Given the description of an element on the screen output the (x, y) to click on. 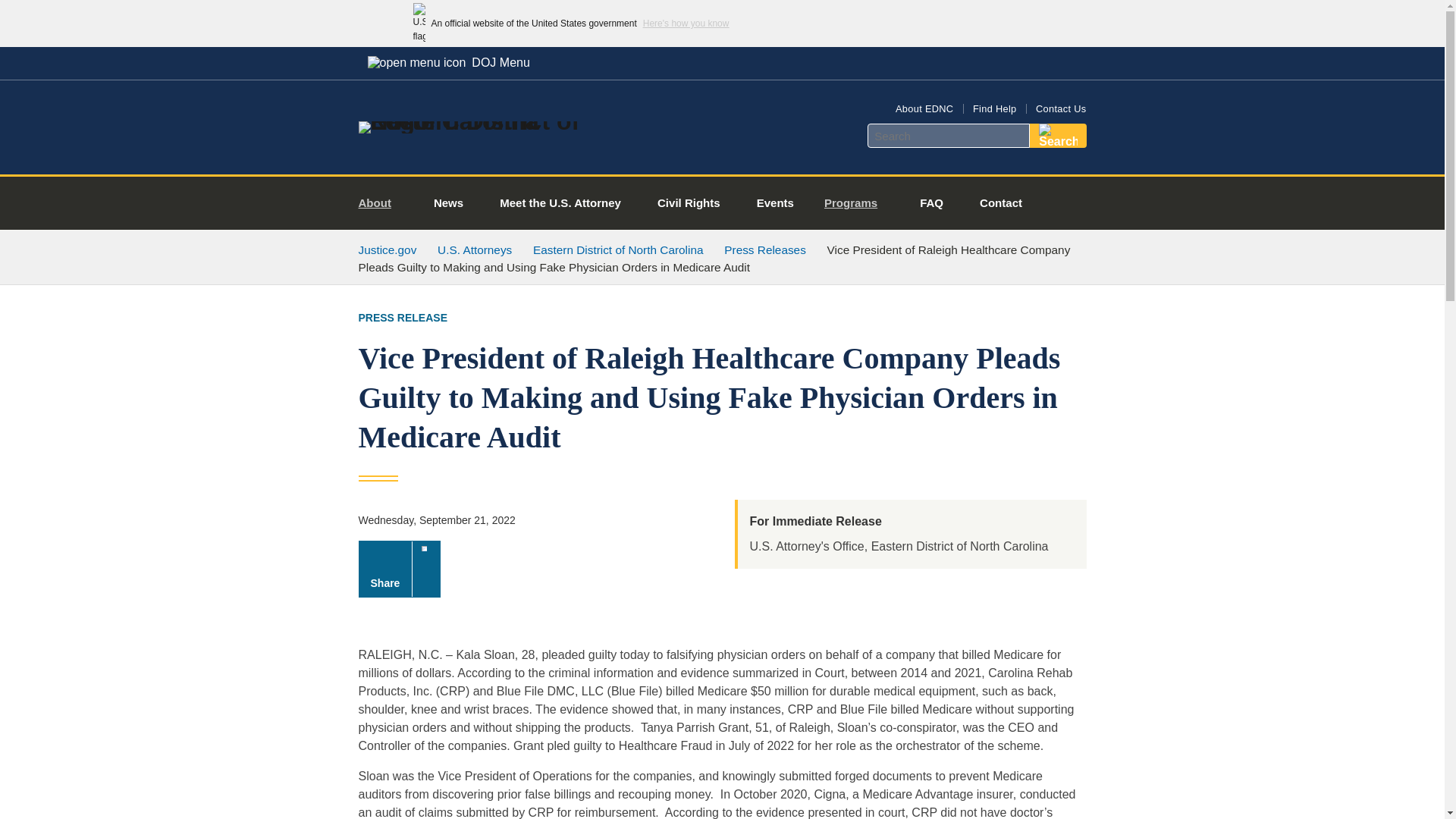
About (380, 203)
FAQ (930, 203)
Here's how you know (686, 23)
Contact (1000, 203)
Home (481, 121)
Meet the U.S. Attorney (560, 203)
Programs (856, 203)
News (447, 203)
Contact Us (1060, 108)
About EDNC (924, 108)
